Given the description of an element on the screen output the (x, y) to click on. 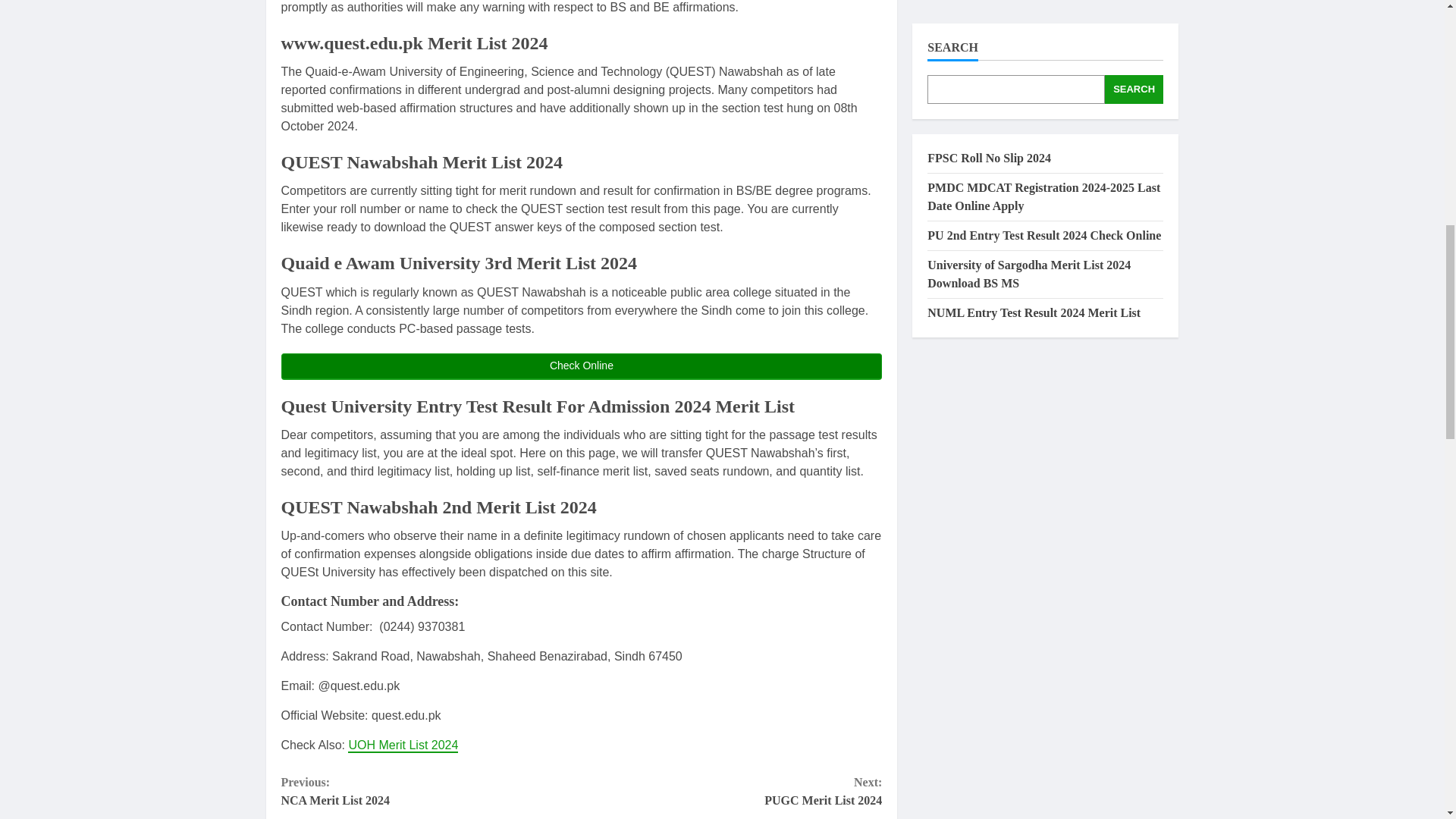
UOH Merit List 2024 (731, 791)
Check Online (402, 745)
